Given the description of an element on the screen output the (x, y) to click on. 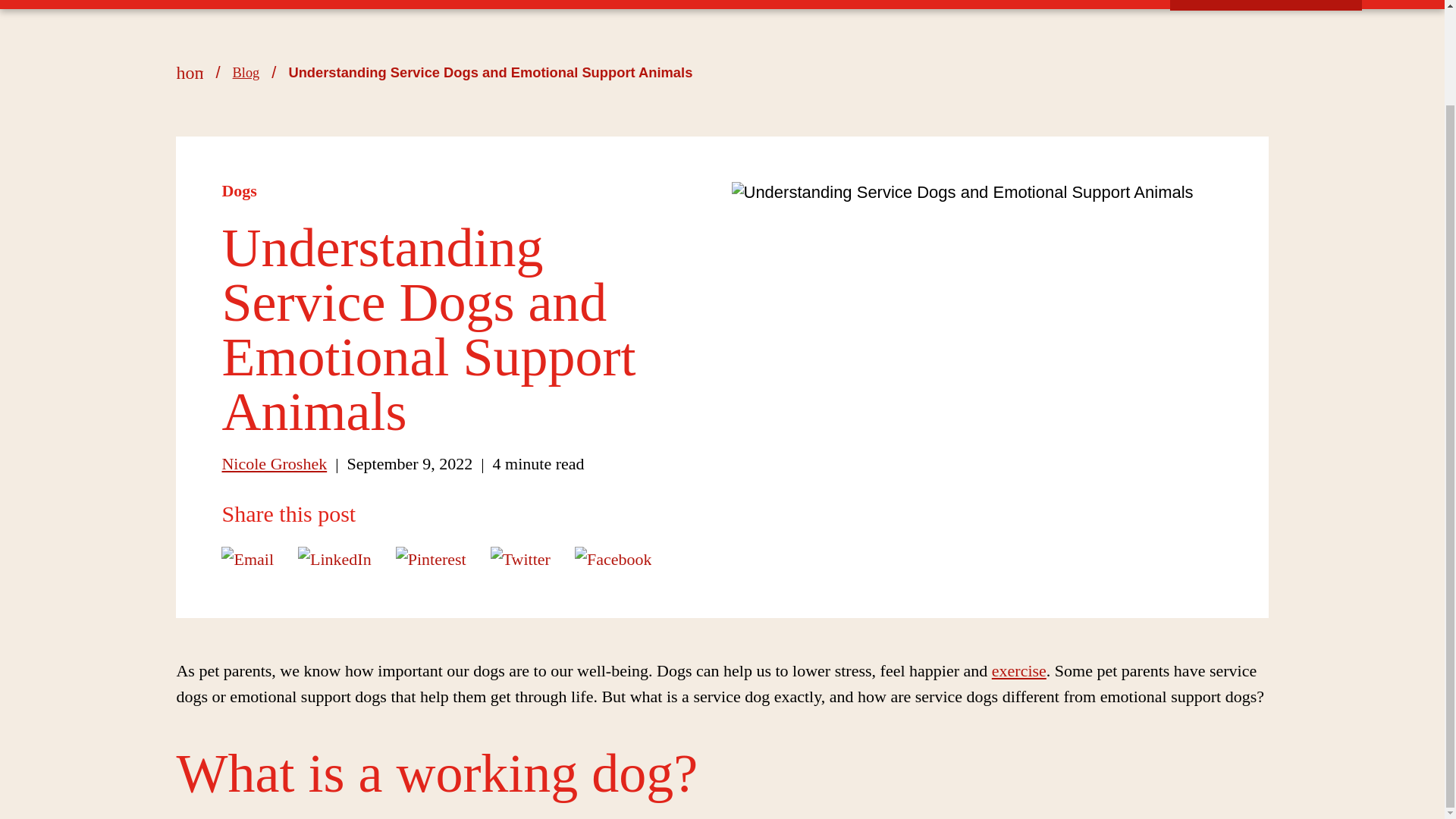
Facebook (613, 558)
Twitter (520, 558)
Pinterest (430, 558)
LinkedIn (334, 558)
Email (247, 558)
